Given the description of an element on the screen output the (x, y) to click on. 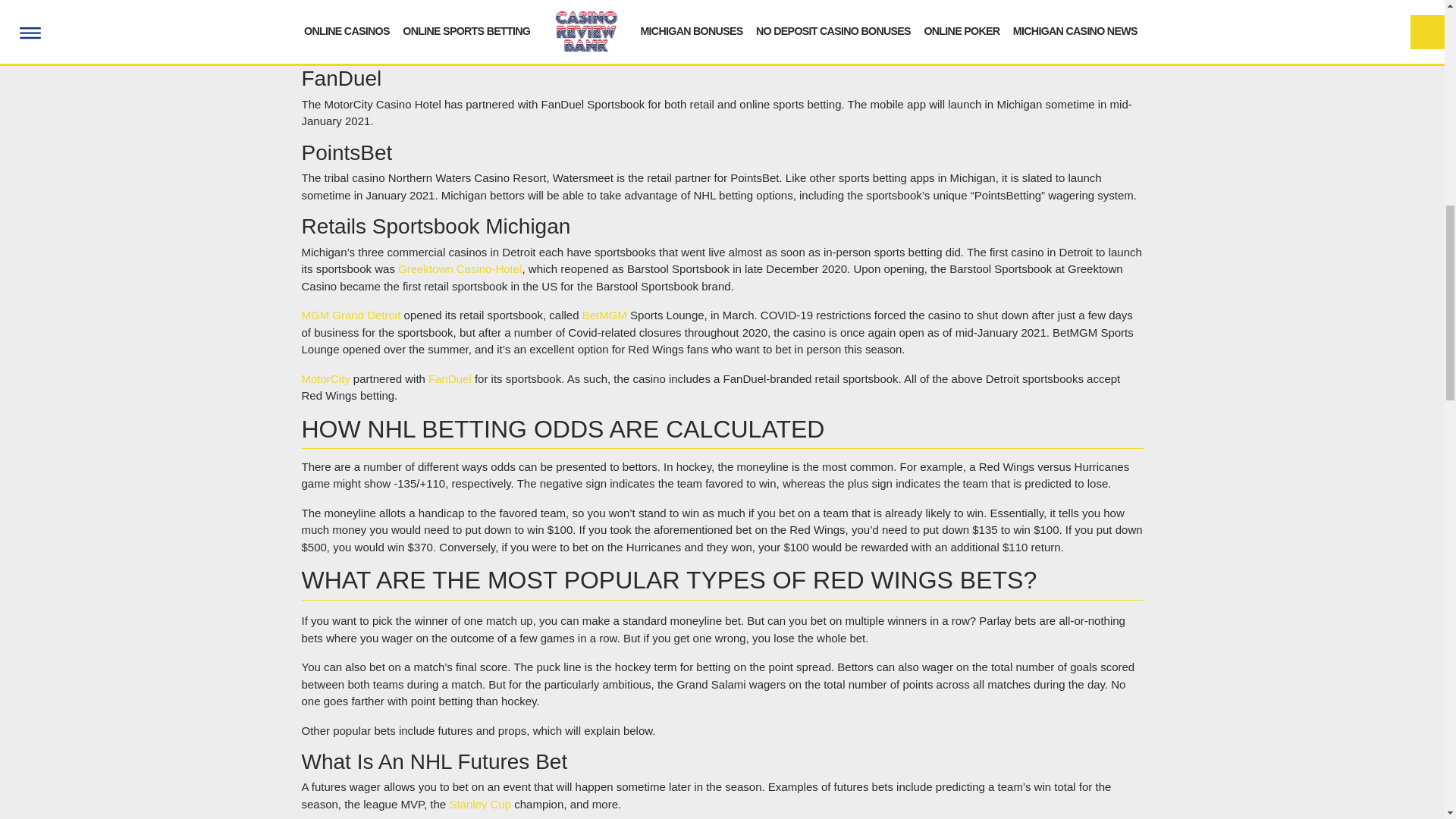
MotorCity (325, 378)
BetMGM (604, 314)
FanDuel (449, 378)
MGM Grand Detroit (351, 314)
Greektown Casino-Hotel (459, 268)
